Given the description of an element on the screen output the (x, y) to click on. 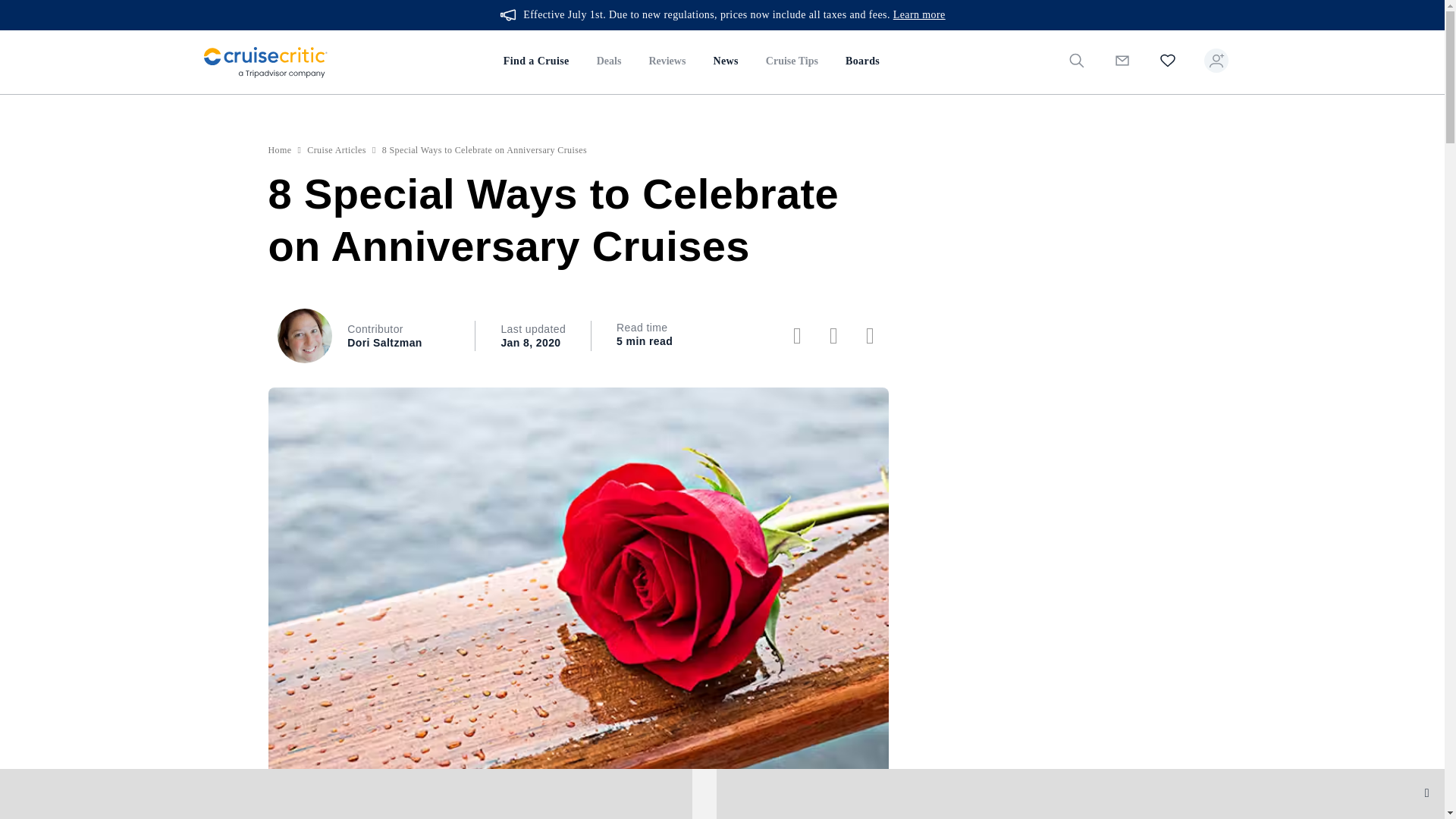
Reviews (666, 62)
Home (279, 150)
Learn more (918, 15)
Boards (861, 62)
Cruise Tips (791, 62)
Find a Cruise (536, 62)
Cruise Articles (336, 150)
